Given the description of an element on the screen output the (x, y) to click on. 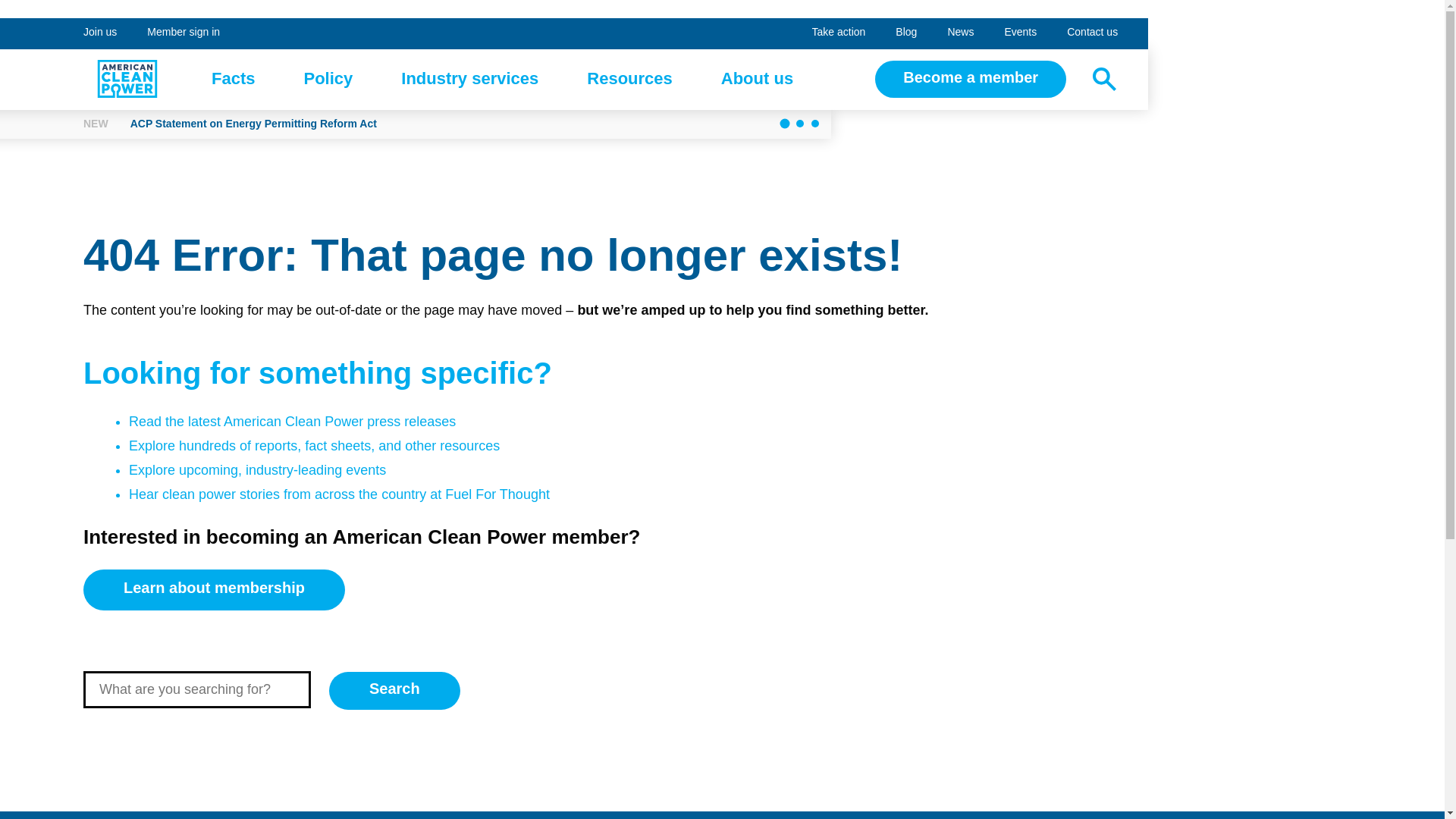
Contact us (1091, 33)
News (233, 78)
Join us (959, 33)
ACP (100, 33)
Blog (127, 78)
Member sign in (905, 33)
Policy (183, 33)
Events (328, 78)
Take action (1019, 33)
Resources (469, 78)
